Given the description of an element on the screen output the (x, y) to click on. 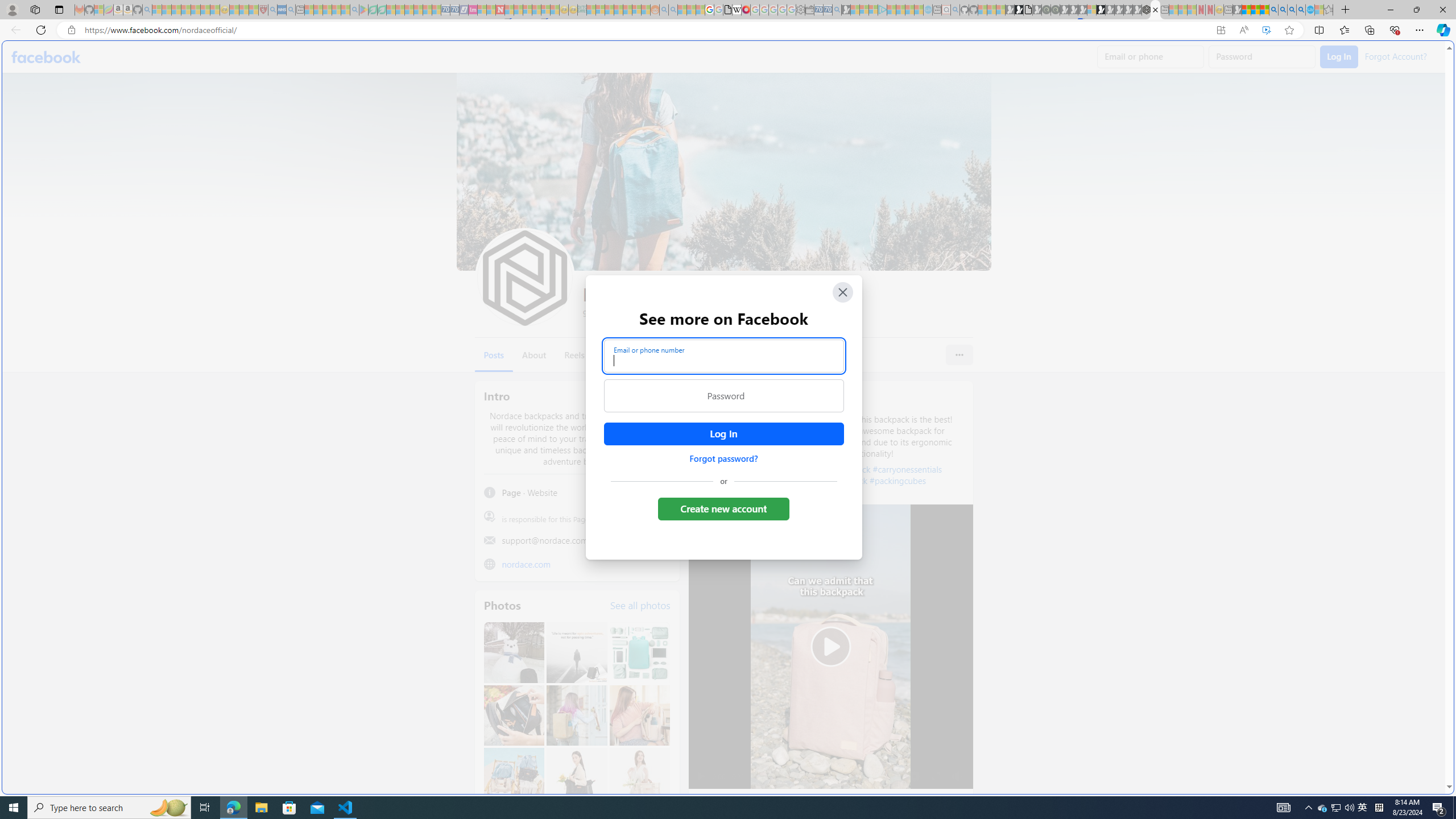
google_privacy_policy_zh-CN.pdf (726, 9)
Email or phone number (723, 355)
Local - MSN - Sleeping (253, 9)
Wallet - Sleeping (809, 9)
Password (723, 395)
